Given the description of an element on the screen output the (x, y) to click on. 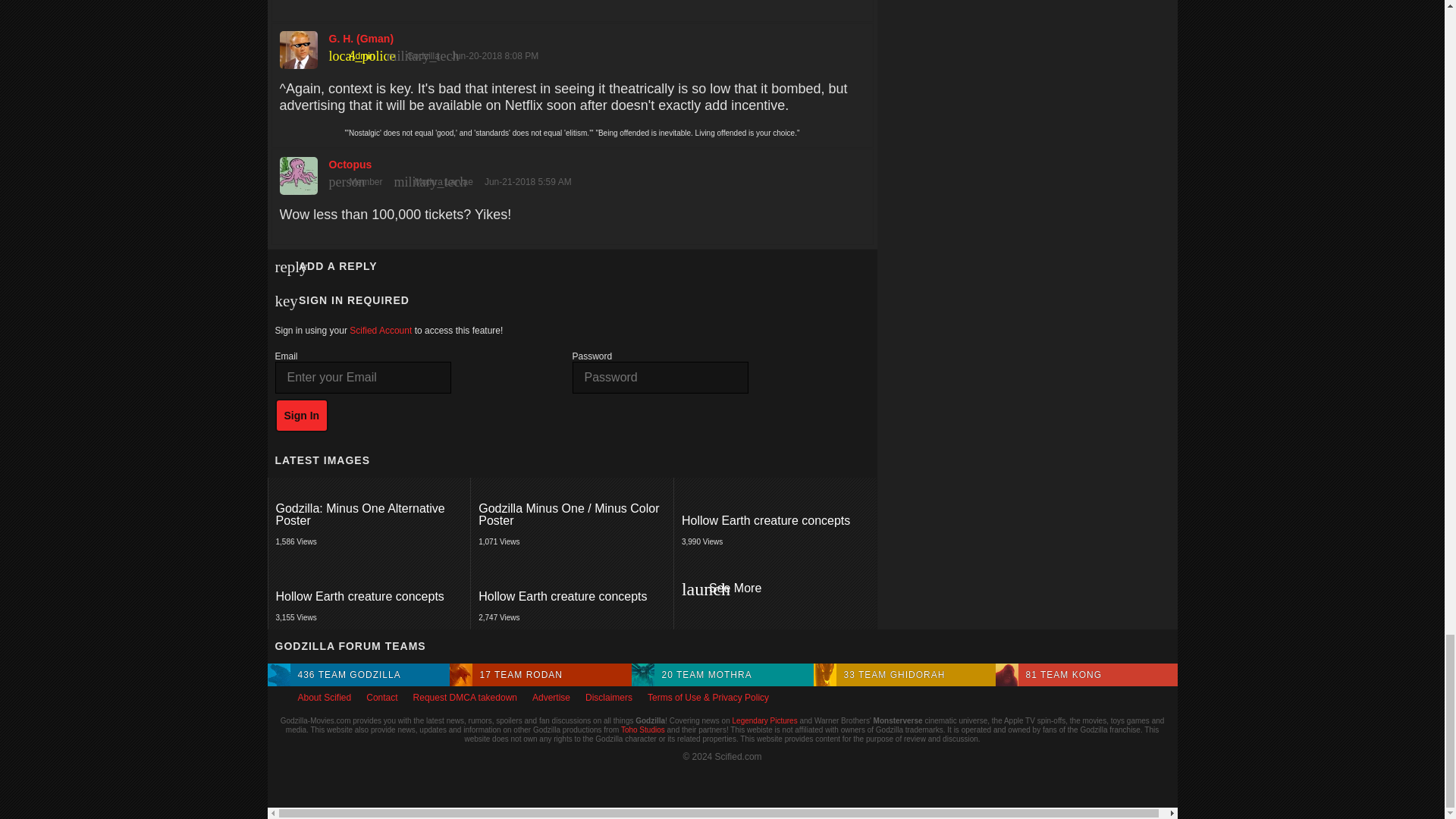
Hollow Earth creature concepts (572, 596)
Hollow Earth creature concepts (369, 596)
Hollow Earth creature concepts (368, 591)
See More (774, 515)
